Given the description of an element on the screen output the (x, y) to click on. 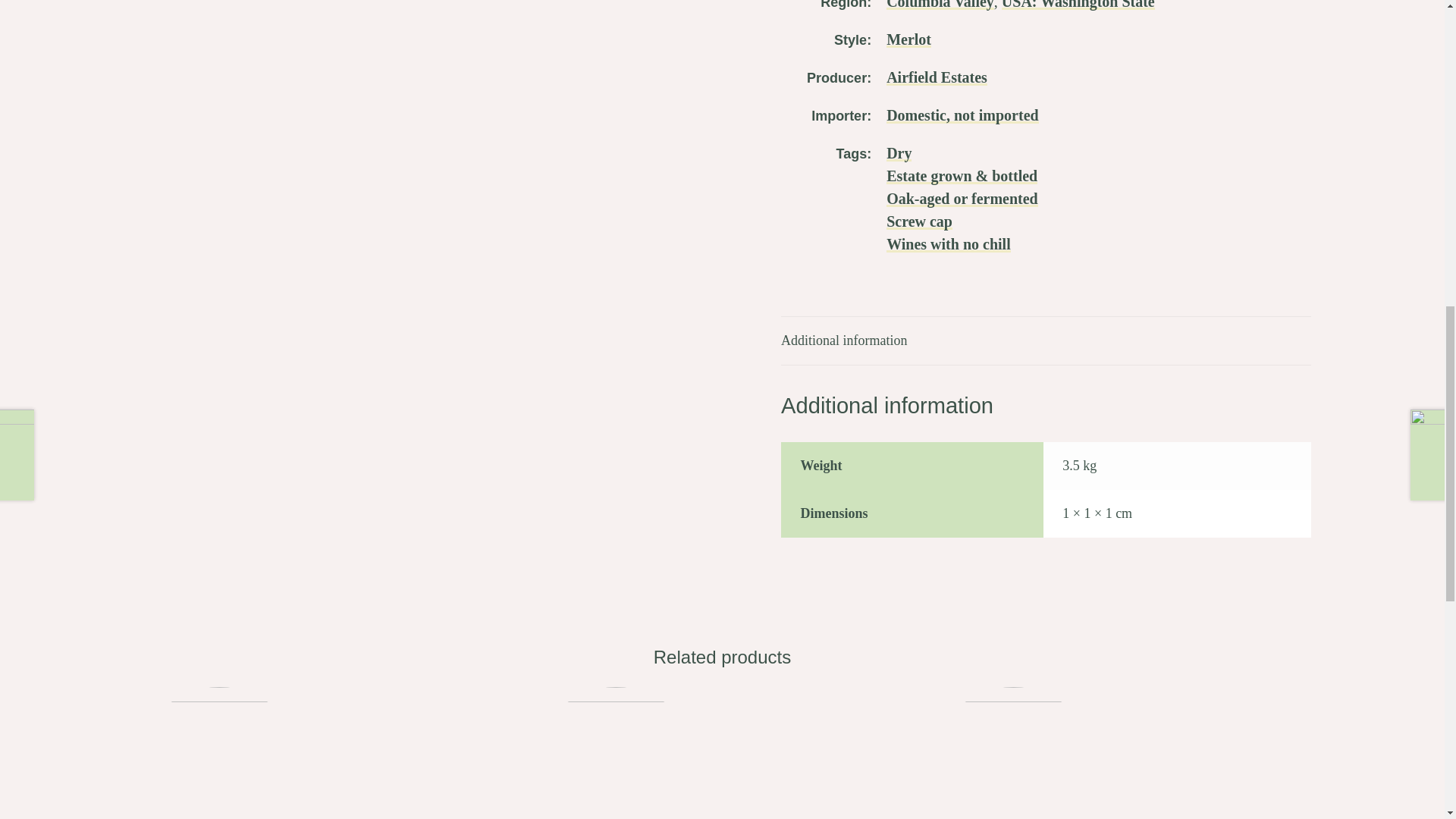
Airfield Estates (936, 76)
Oak-aged or fermented (962, 198)
Additional information (1045, 340)
Columbia Valley (940, 4)
Dry (898, 152)
Wines with no chill (948, 243)
Merlot (908, 39)
USA: Washington State (1077, 4)
Domestic, not imported (962, 115)
Screw cap (919, 221)
